Given the description of an element on the screen output the (x, y) to click on. 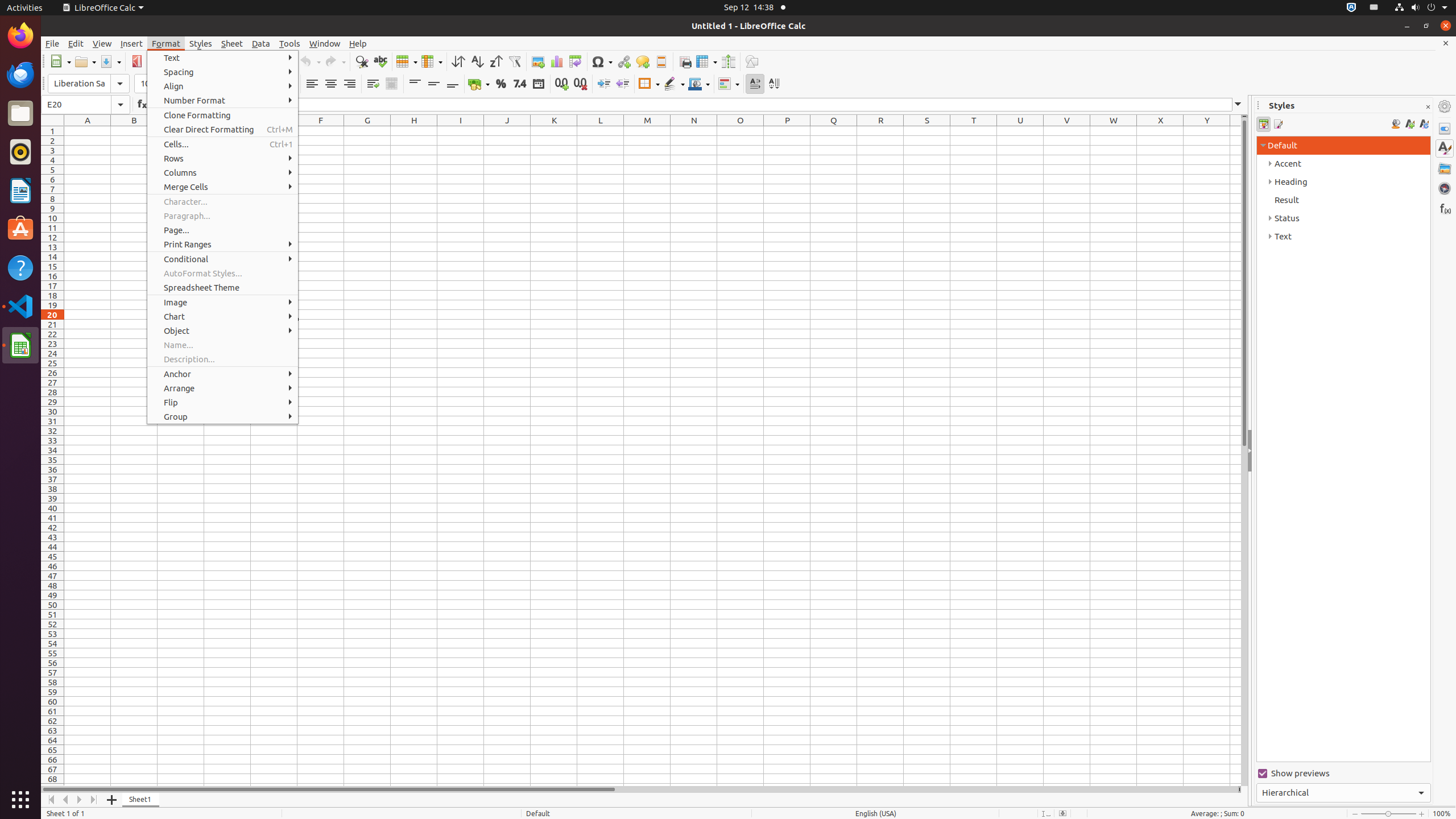
K1 Element type: table-cell (553, 130)
Help Element type: push-button (20, 267)
Help Element type: menu (357, 43)
Character... Element type: menu-item (222, 201)
Align Left Element type: push-button (311, 83)
